Given the description of an element on the screen output the (x, y) to click on. 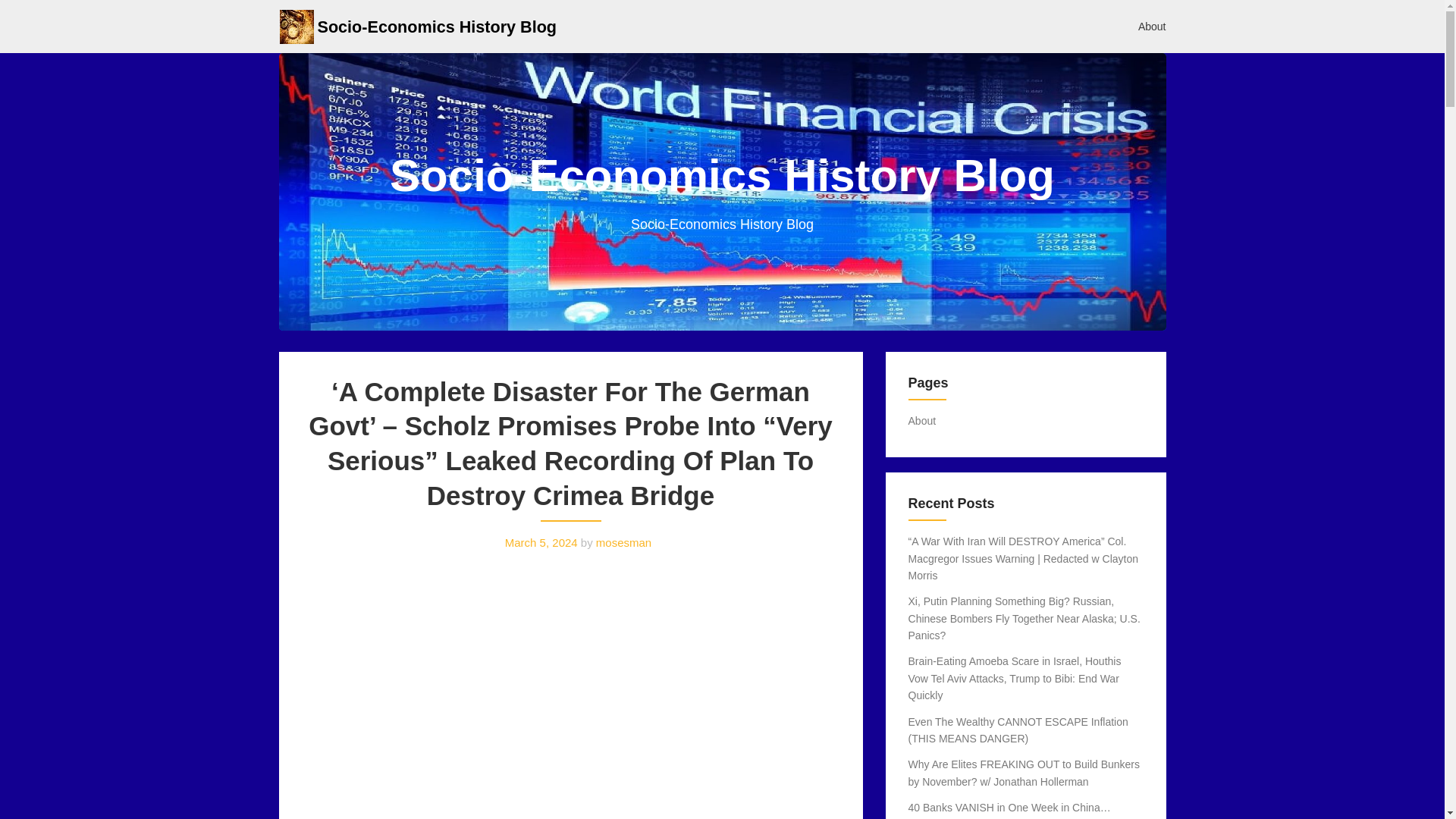
Socio-Economics History Blog (436, 26)
March 5, 2024 (541, 542)
About (1151, 26)
About (922, 420)
